Given the description of an element on the screen output the (x, y) to click on. 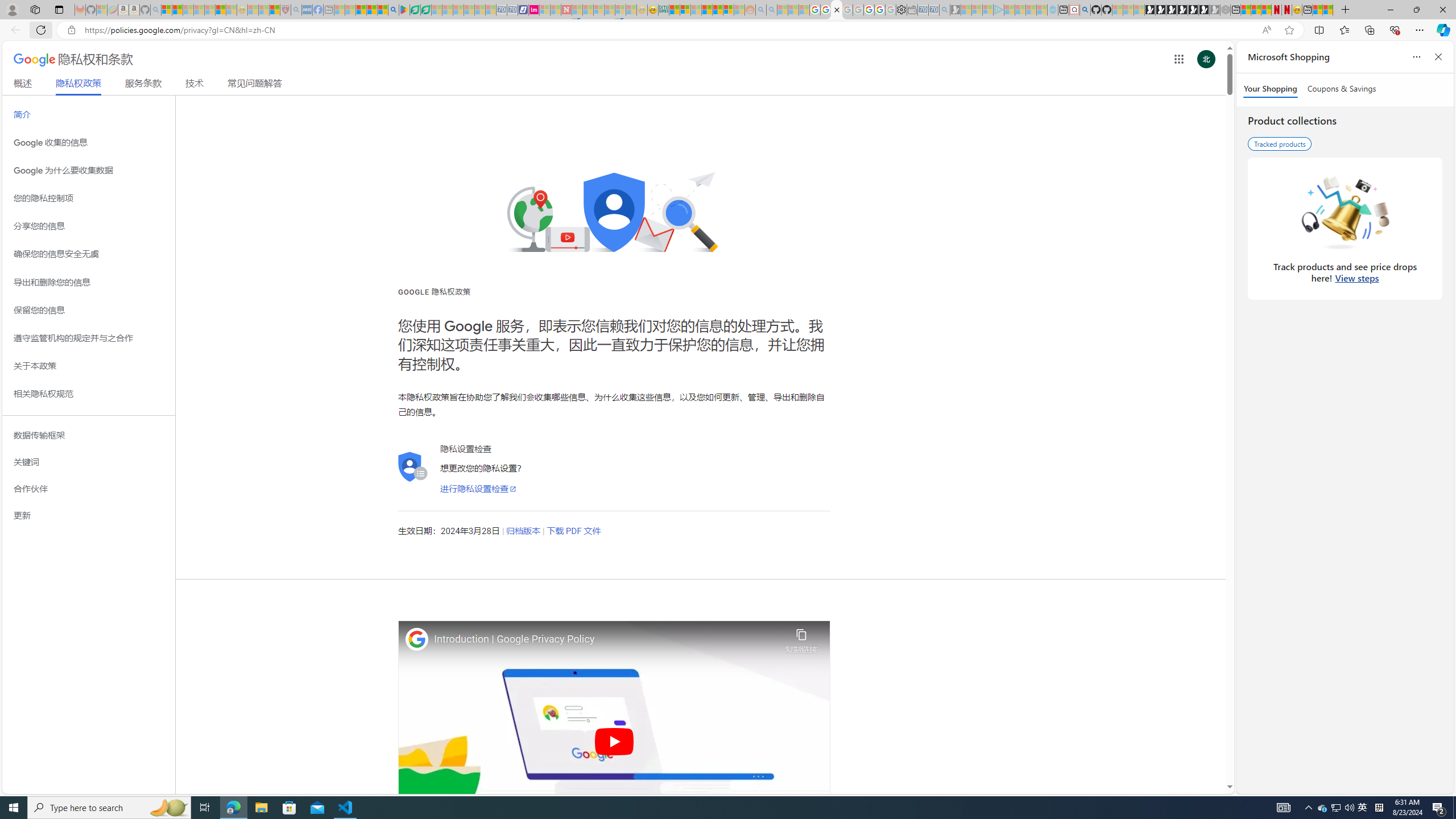
Bluey: Let's Play! - Apps on Google Play (404, 9)
